Given the description of an element on the screen output the (x, y) to click on. 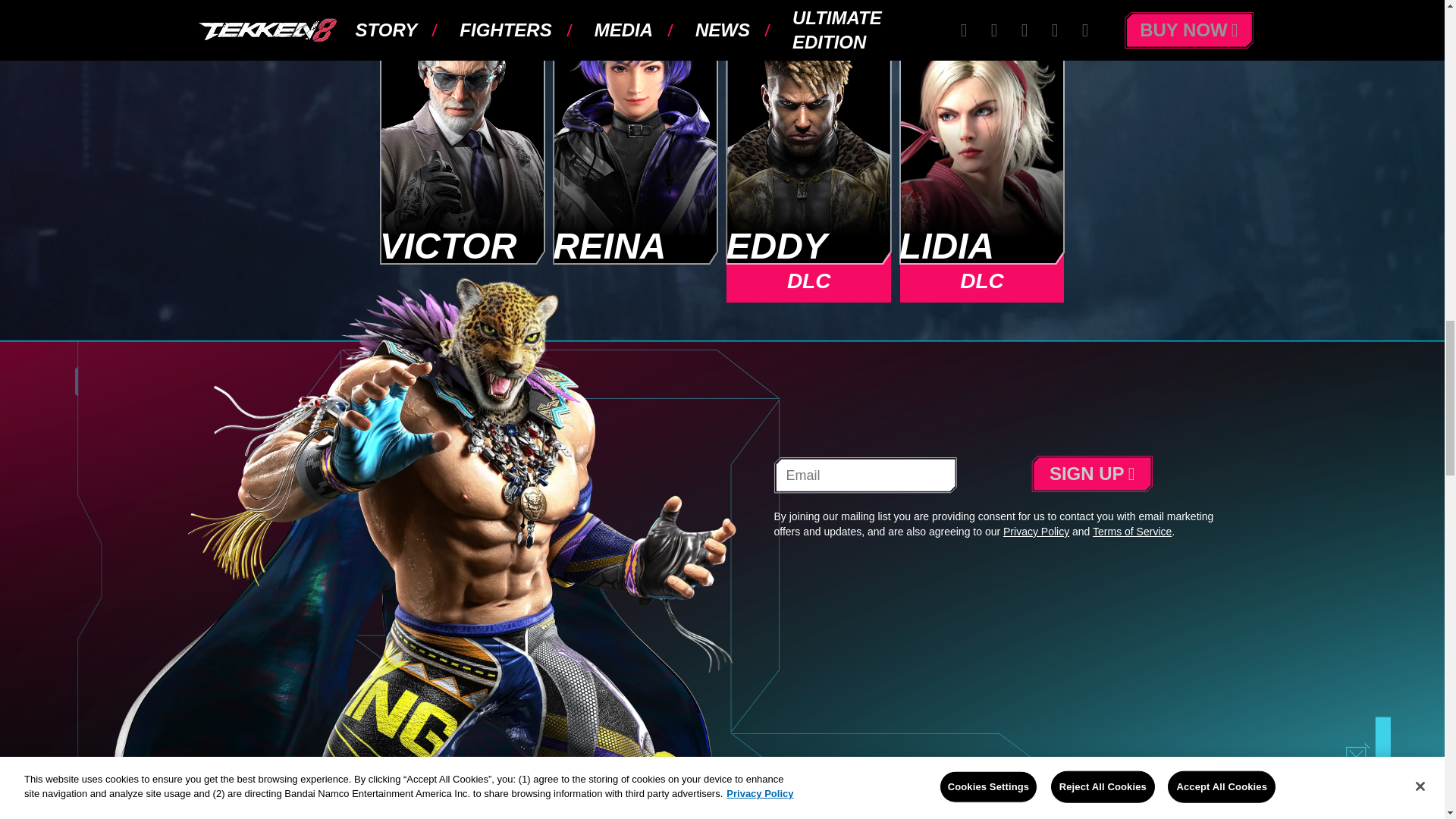
SIGN UP (1092, 473)
Terms of Service (1132, 531)
Privacy Policy (1035, 531)
